Given the description of an element on the screen output the (x, y) to click on. 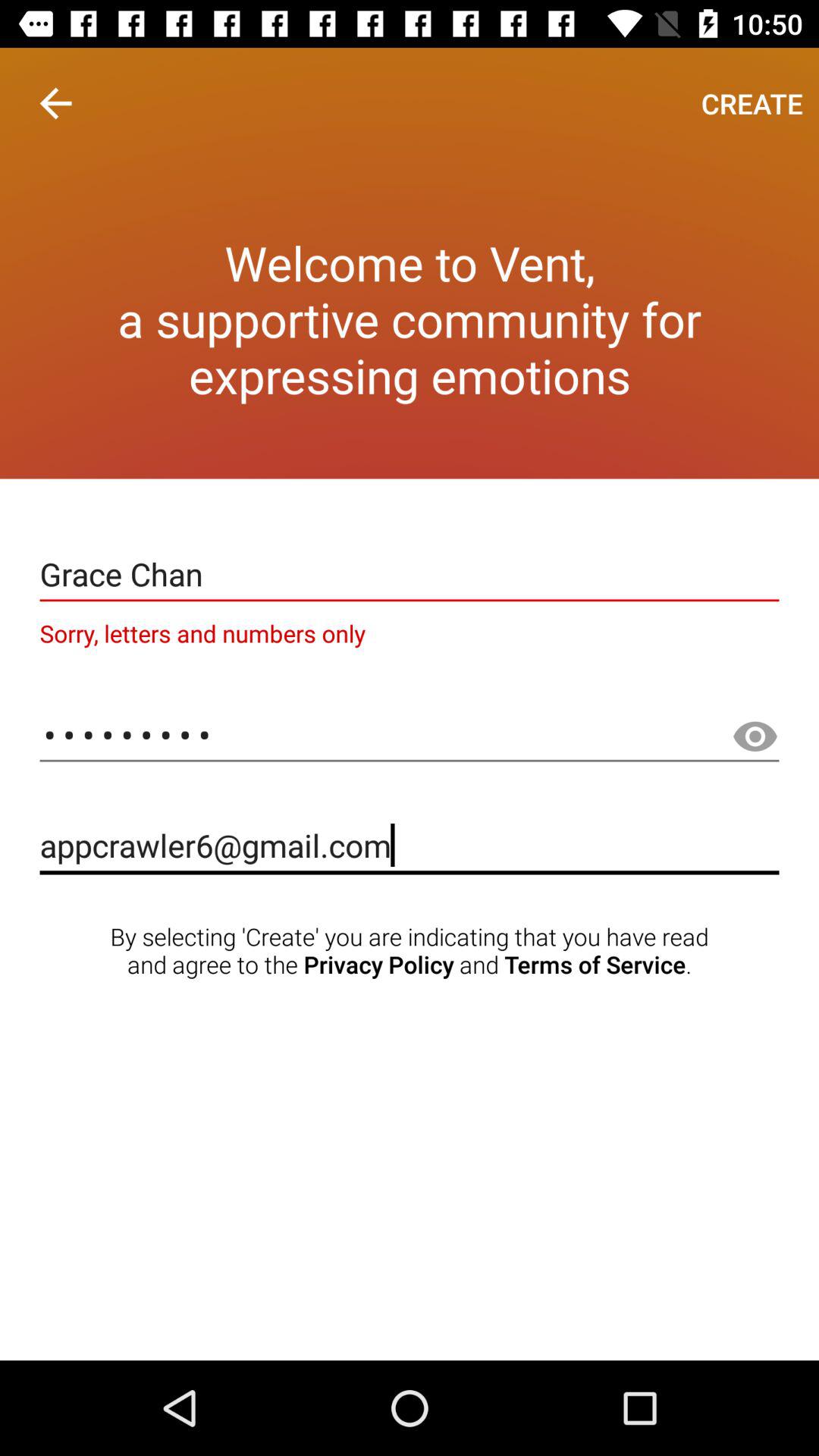
show password (755, 737)
